Given the description of an element on the screen output the (x, y) to click on. 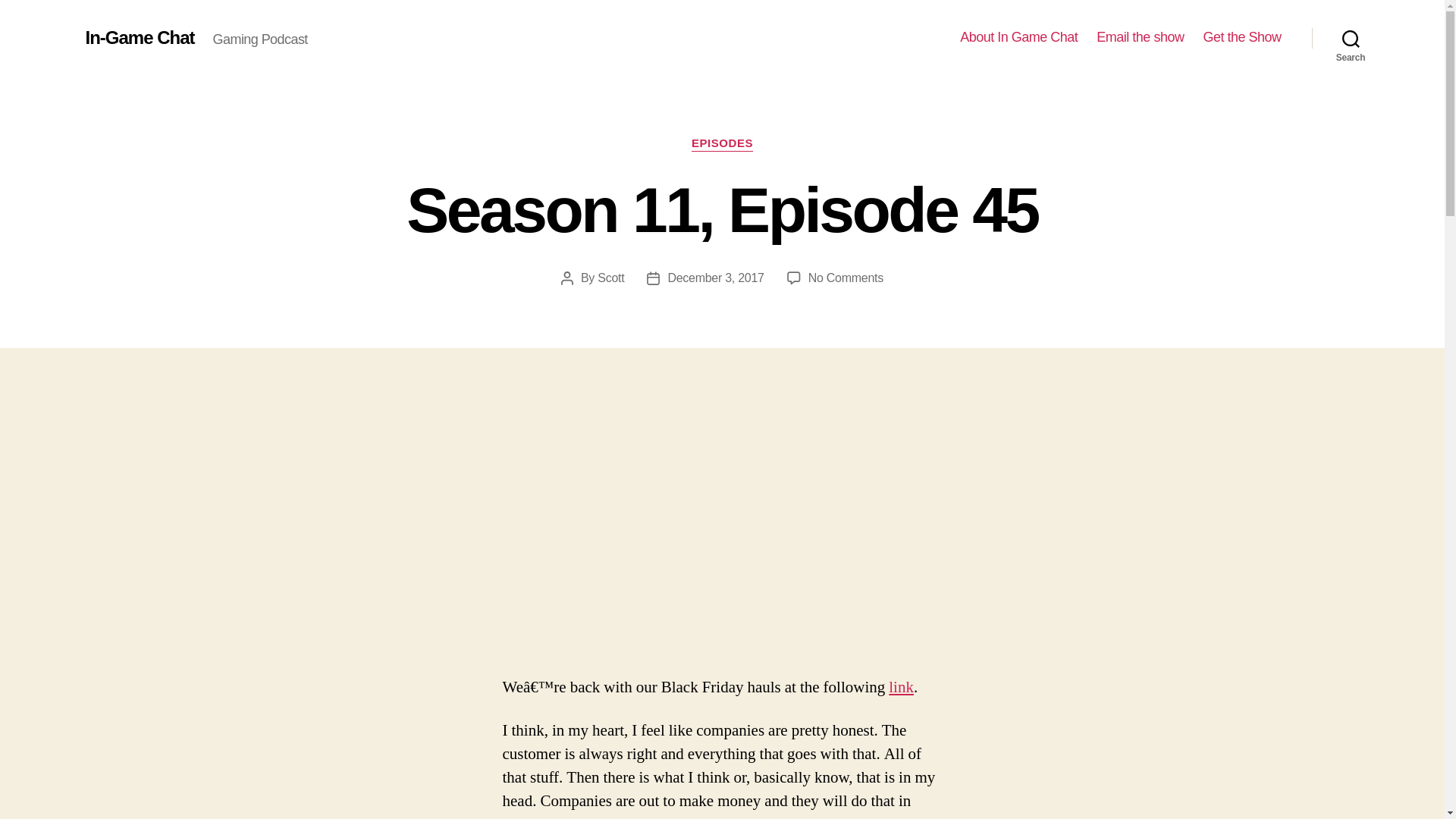
In-Game Chat (138, 37)
December 3, 2017 (714, 277)
Scott (845, 277)
Email the show (610, 277)
link (1139, 37)
Get the Show (901, 687)
About In Game Chat (1241, 37)
Search (1018, 37)
In-Game Chat: Season 11, Episode 45 (1350, 37)
